Given the description of an element on the screen output the (x, y) to click on. 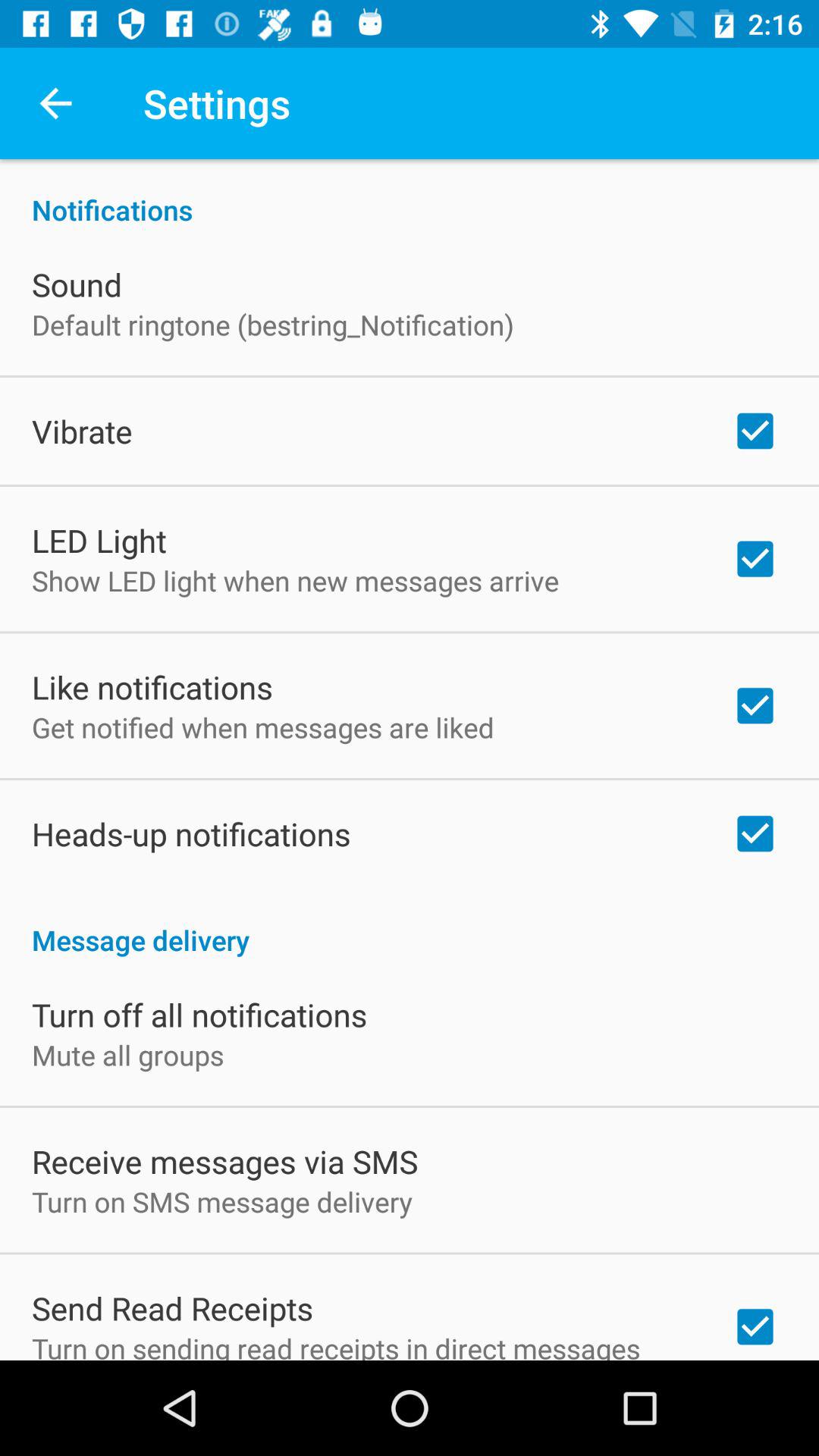
choose like notifications item (152, 686)
